Given the description of an element on the screen output the (x, y) to click on. 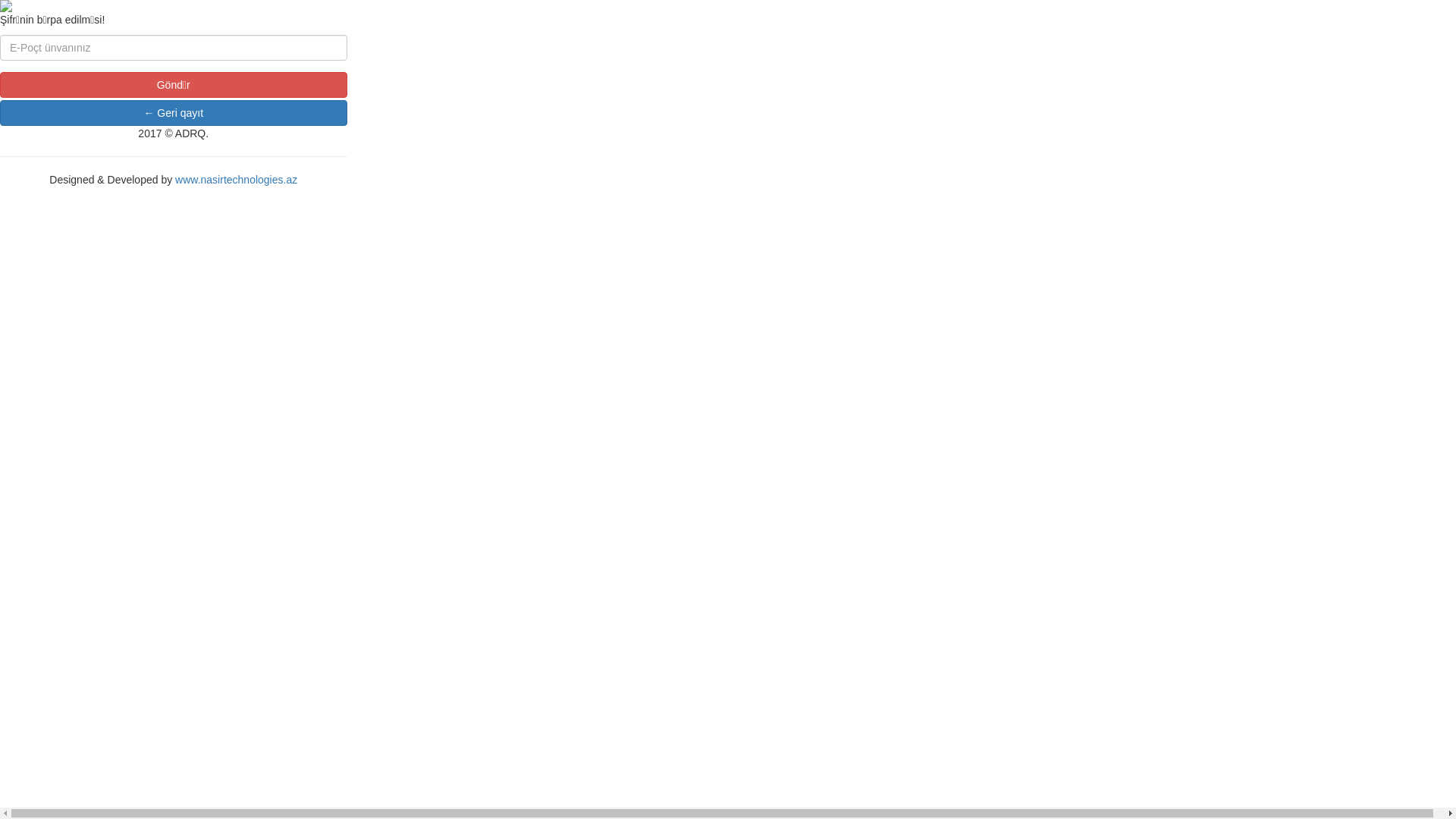
www.nasirtechnologies.az Element type: text (236, 179)
